Given the description of an element on the screen output the (x, y) to click on. 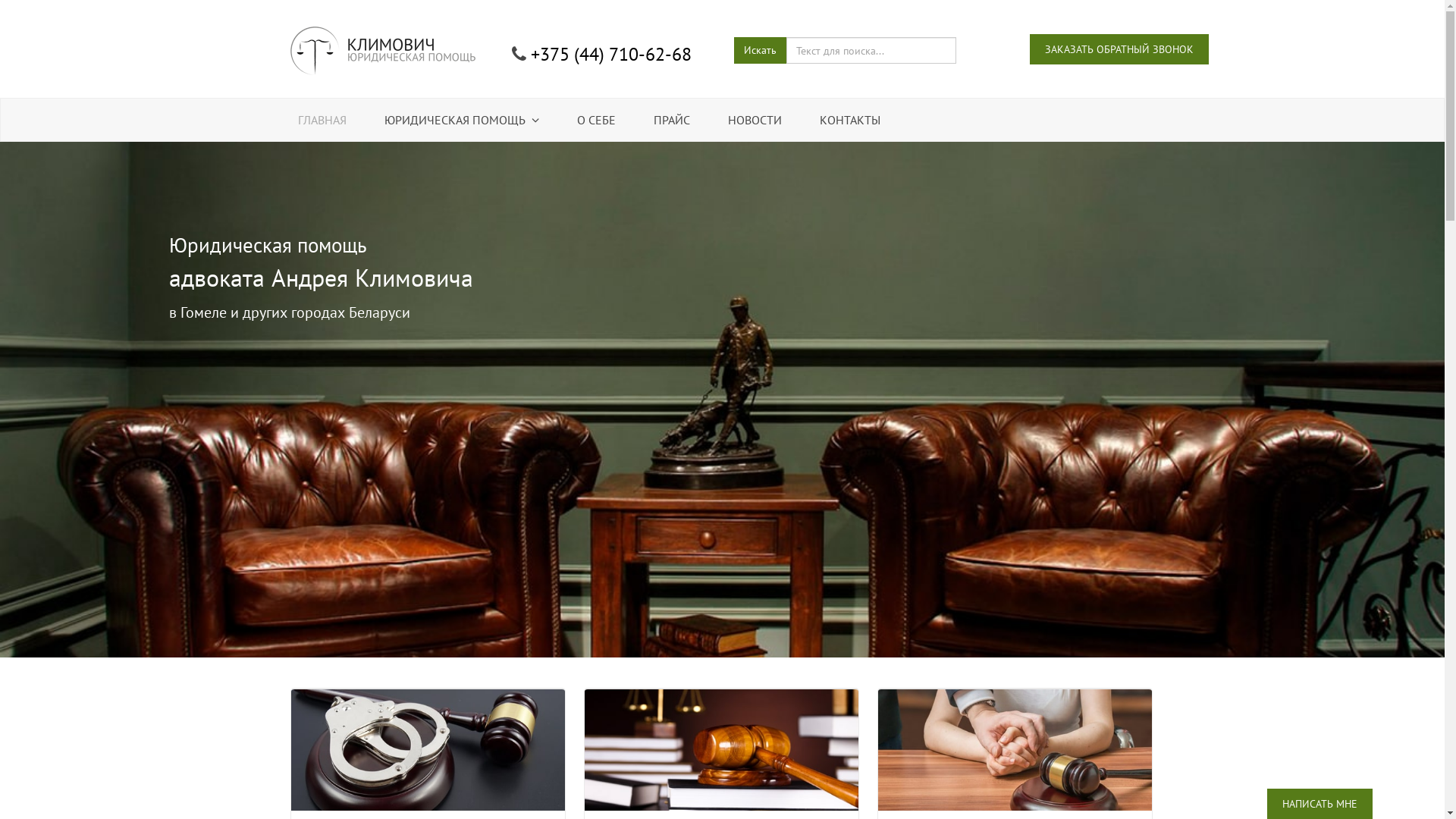
+375 (44) 710-62-68 Element type: text (610, 53)
klimovich.by Element type: hover (381, 48)
